Given the description of an element on the screen output the (x, y) to click on. 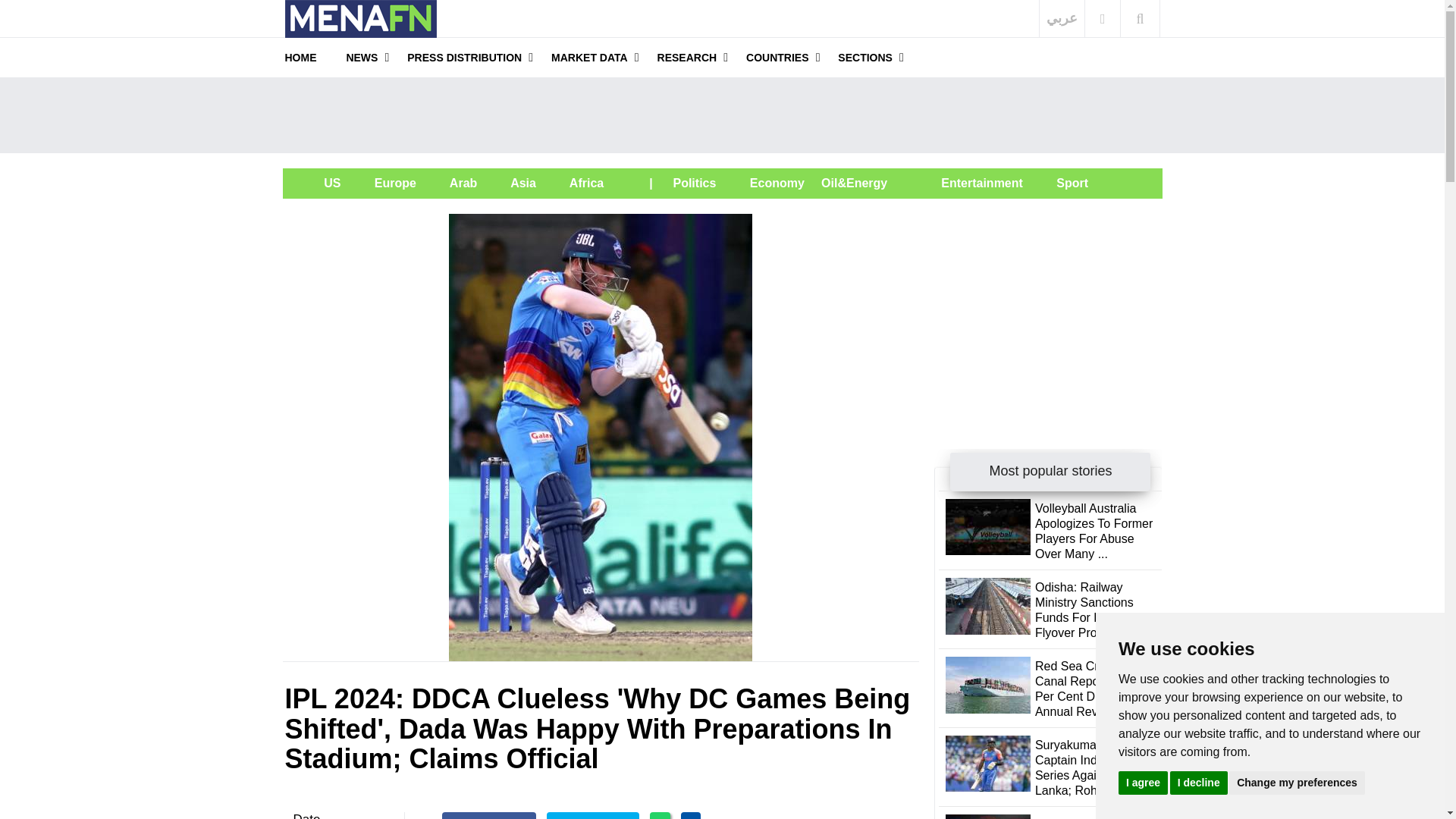
Advertisement (1047, 308)
Change my preferences (1296, 781)
Advertisement (721, 115)
I decline (1198, 781)
I agree (1142, 781)
MARKET DATA (589, 56)
Posts by NewEdge (306, 815)
Share on linkedin (691, 815)
PRESS DISTRIBUTION (464, 56)
